Given the description of an element on the screen output the (x, y) to click on. 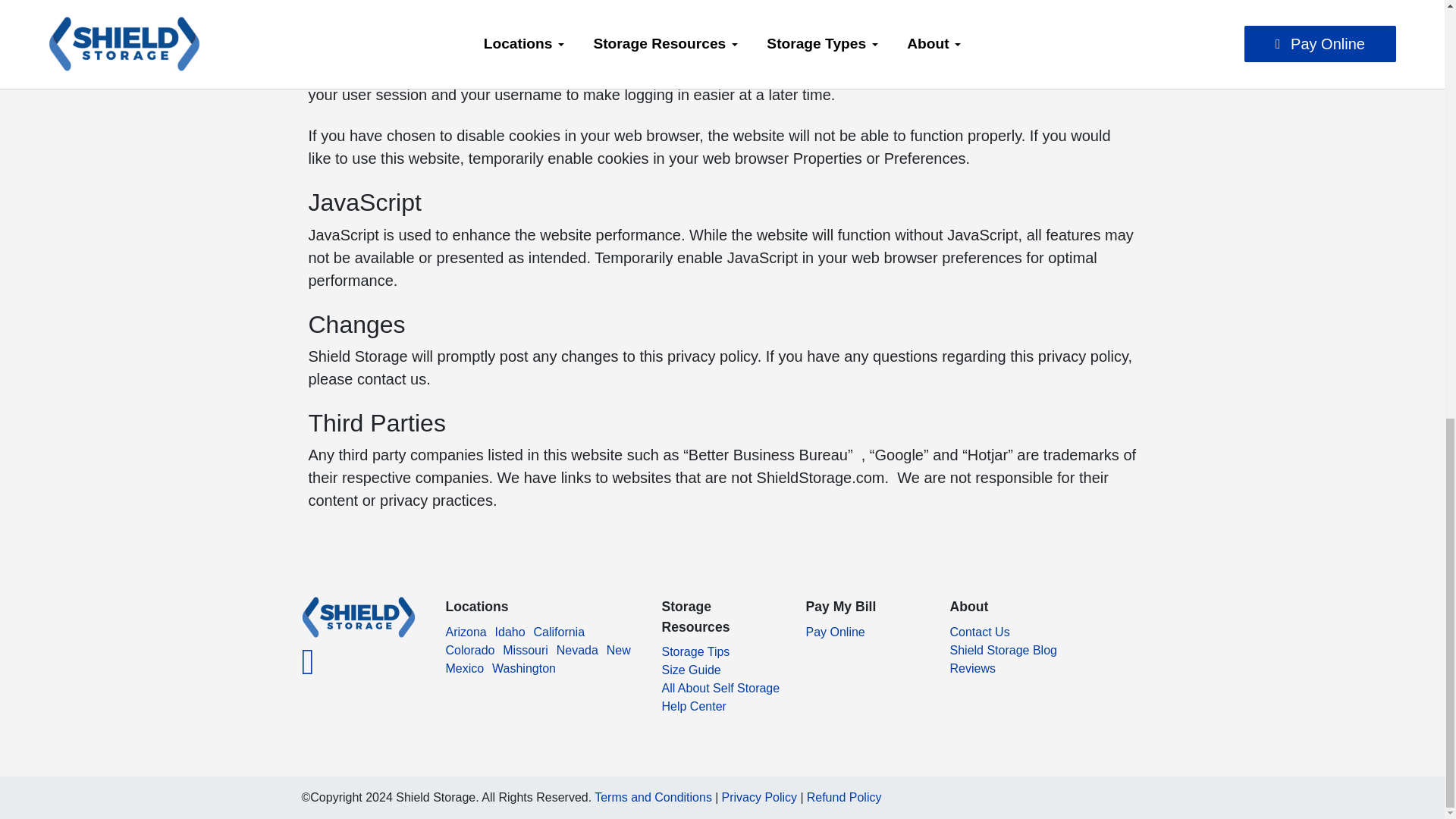
Nevada (577, 649)
California (558, 631)
Missouri (525, 649)
facebook (308, 669)
Arizona (465, 631)
Idaho (510, 631)
Colorado (470, 649)
